Given the description of an element on the screen output the (x, y) to click on. 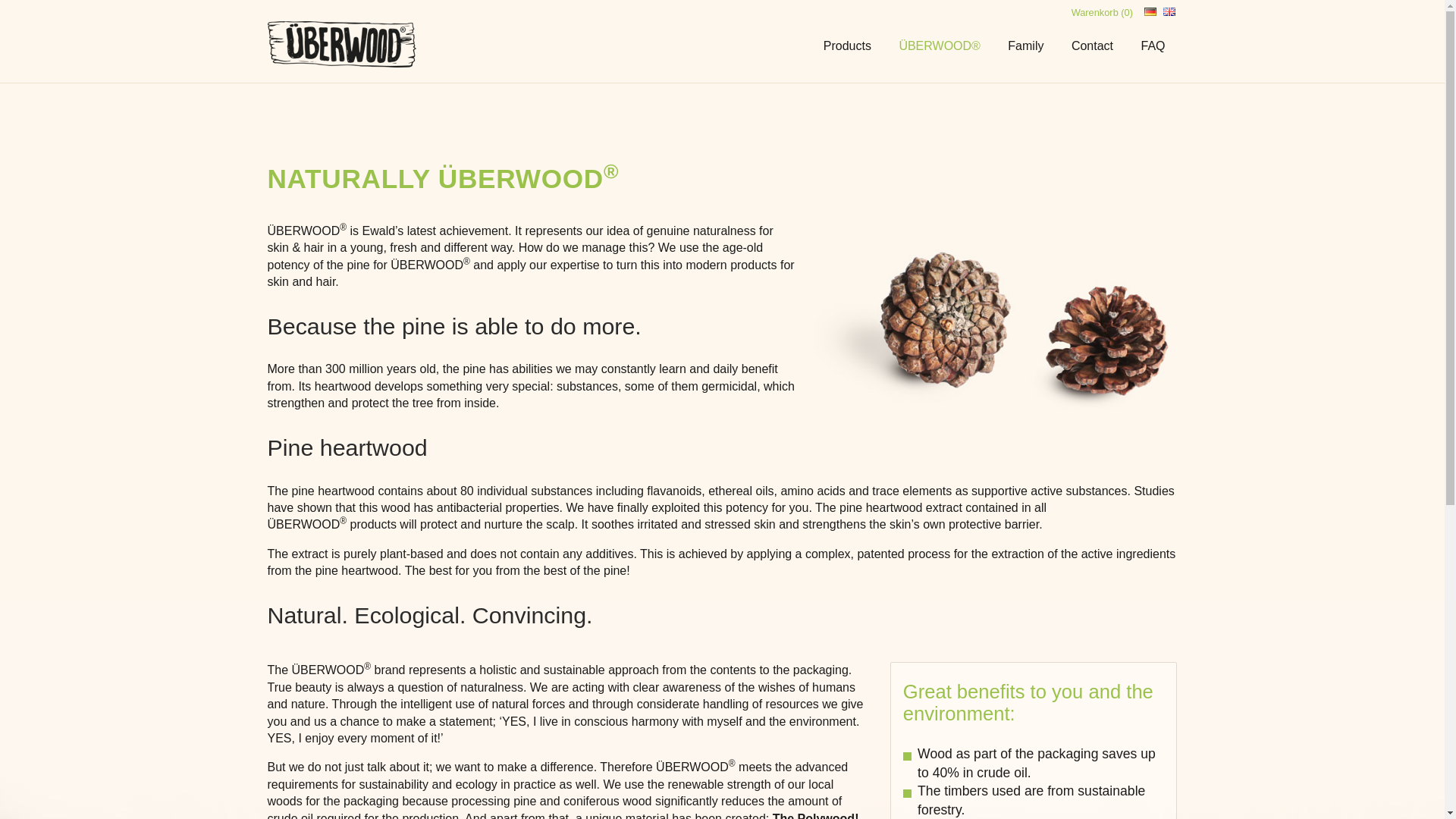
Contact (1092, 45)
Family (1025, 45)
FAQ (1152, 45)
Products (846, 45)
View your shopping cart (1101, 12)
